Given the description of an element on the screen output the (x, y) to click on. 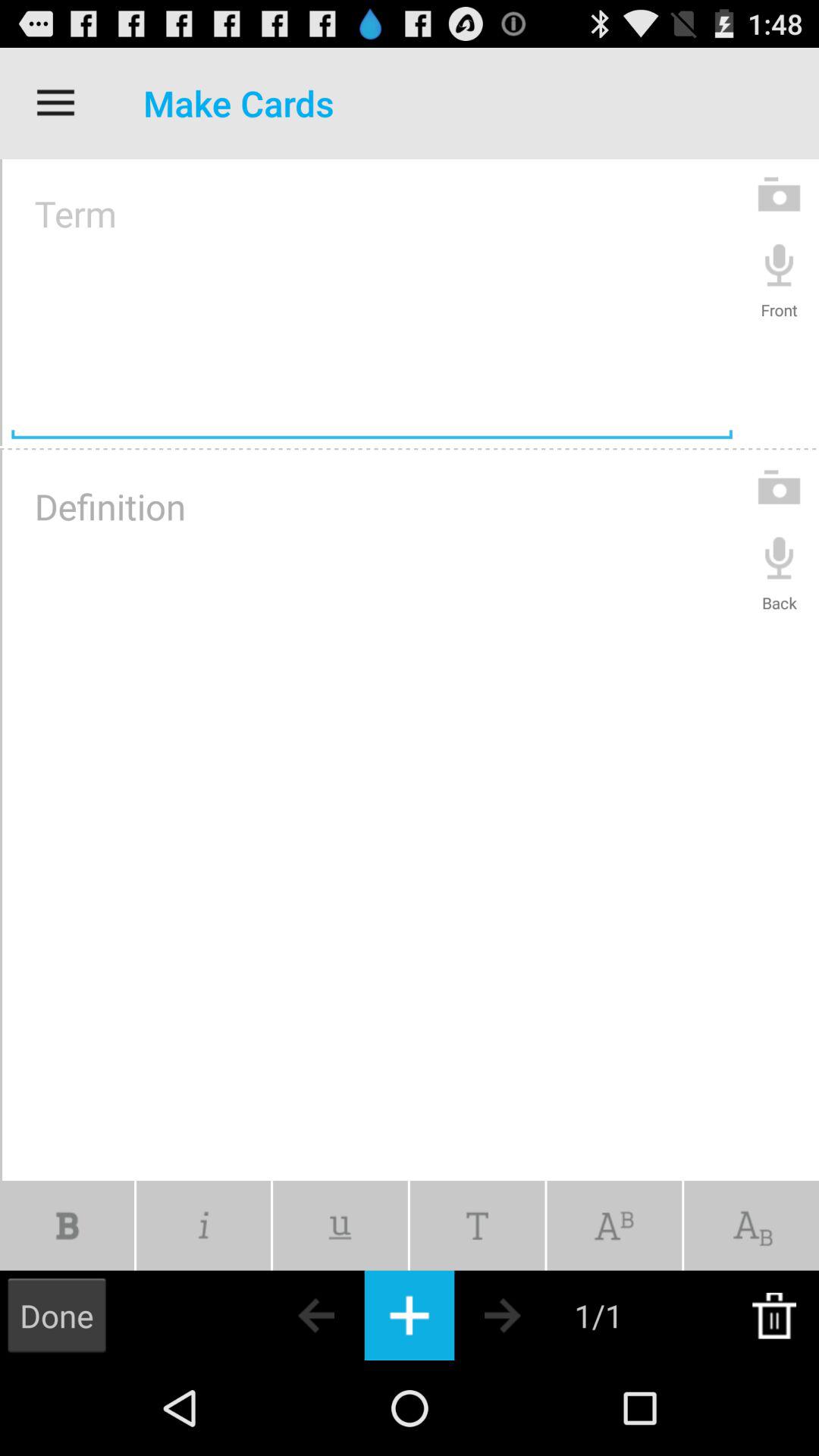
go back (289, 1315)
